Given the description of an element on the screen output the (x, y) to click on. 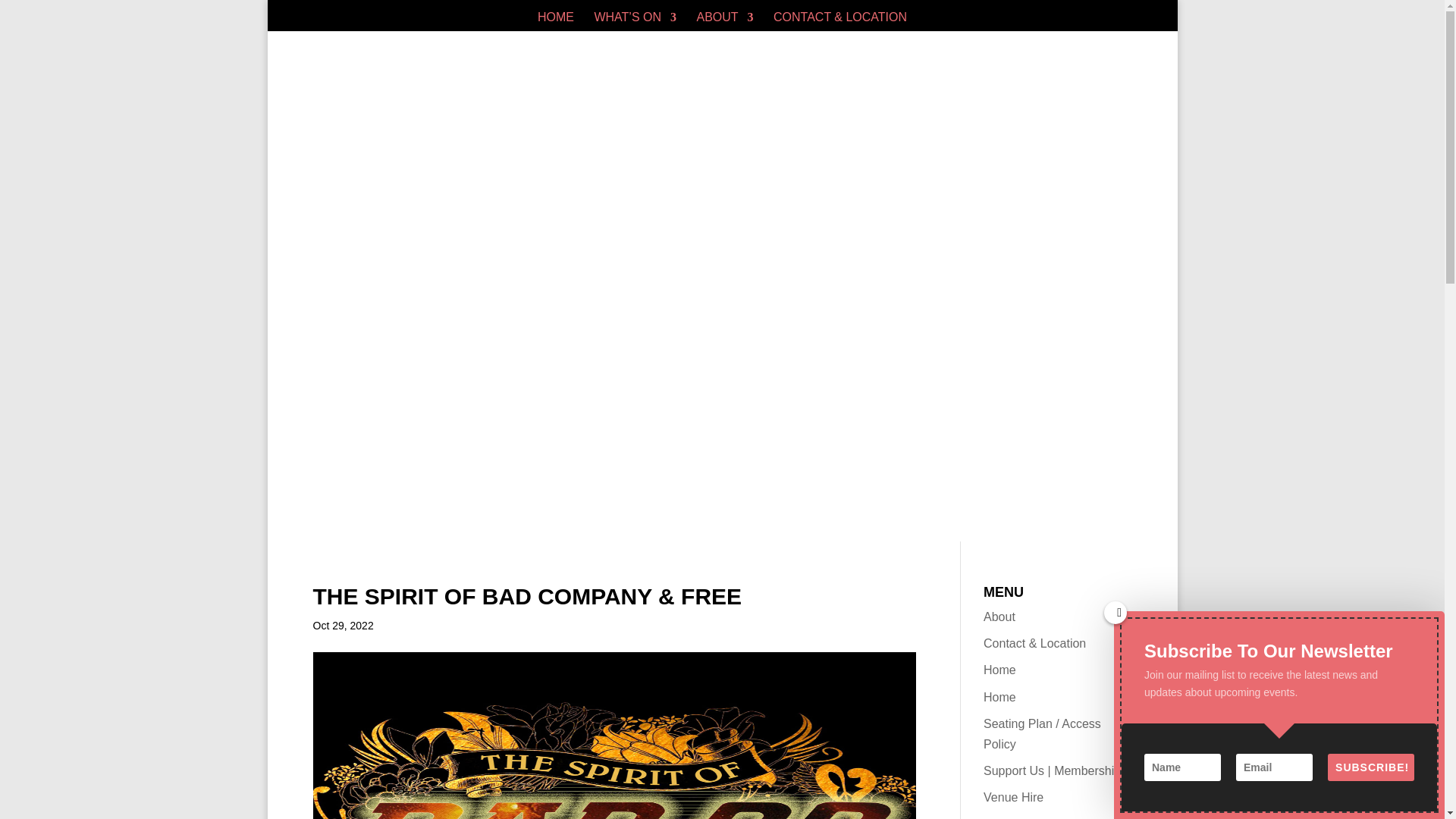
Venue Hire (1013, 797)
About (999, 616)
HOME (555, 21)
Home (1000, 669)
ABOUT (723, 21)
Home (1000, 697)
